Given the description of an element on the screen output the (x, y) to click on. 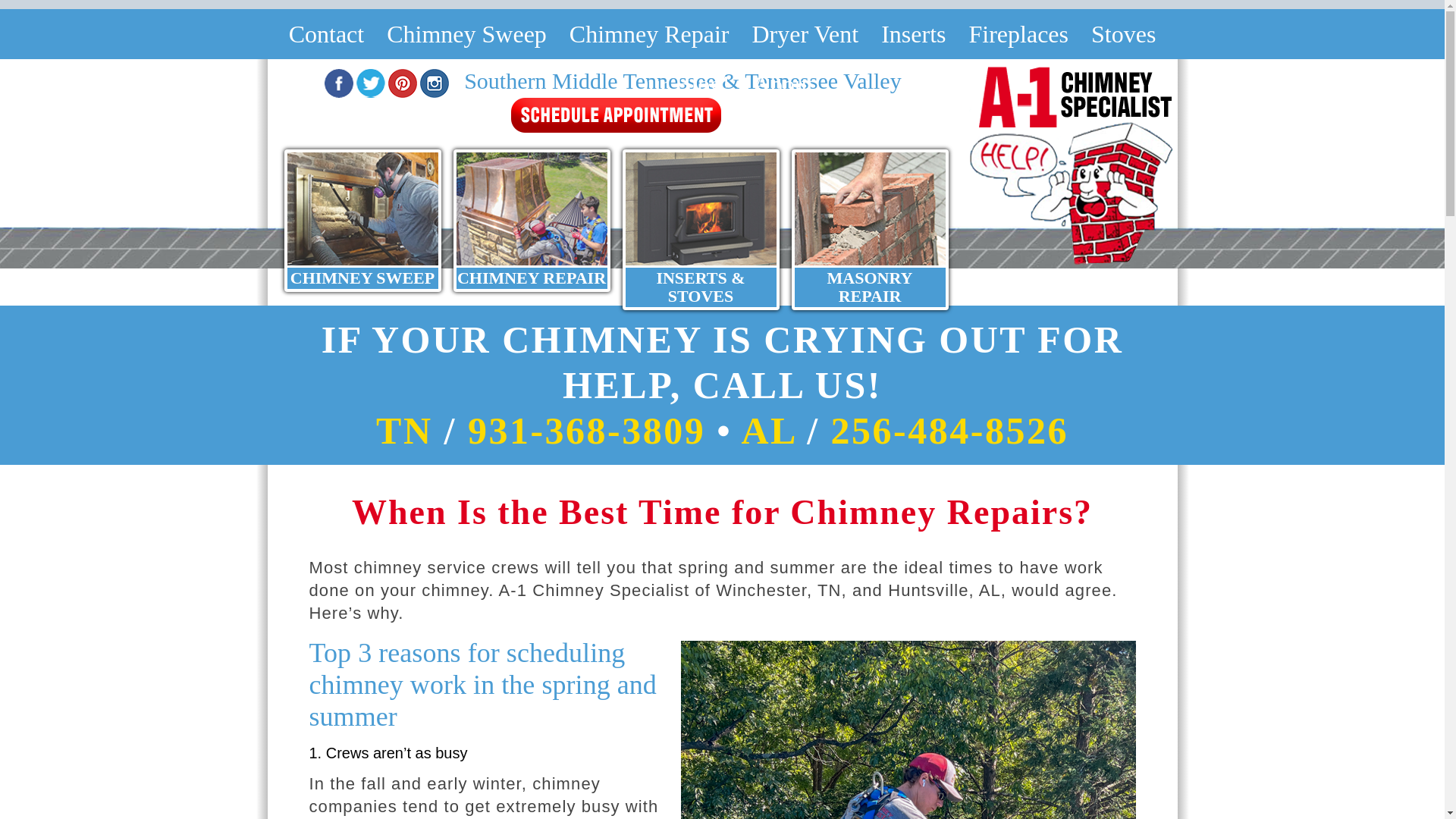
Contact (326, 33)
Inserts (912, 33)
Chimney Repair (649, 33)
Dryer Vent (804, 33)
A-1 Chimney Specialist (1071, 166)
Fireplaces (1018, 33)
Chimney Sweep (466, 33)
Stoves (1123, 33)
